Given the description of an element on the screen output the (x, y) to click on. 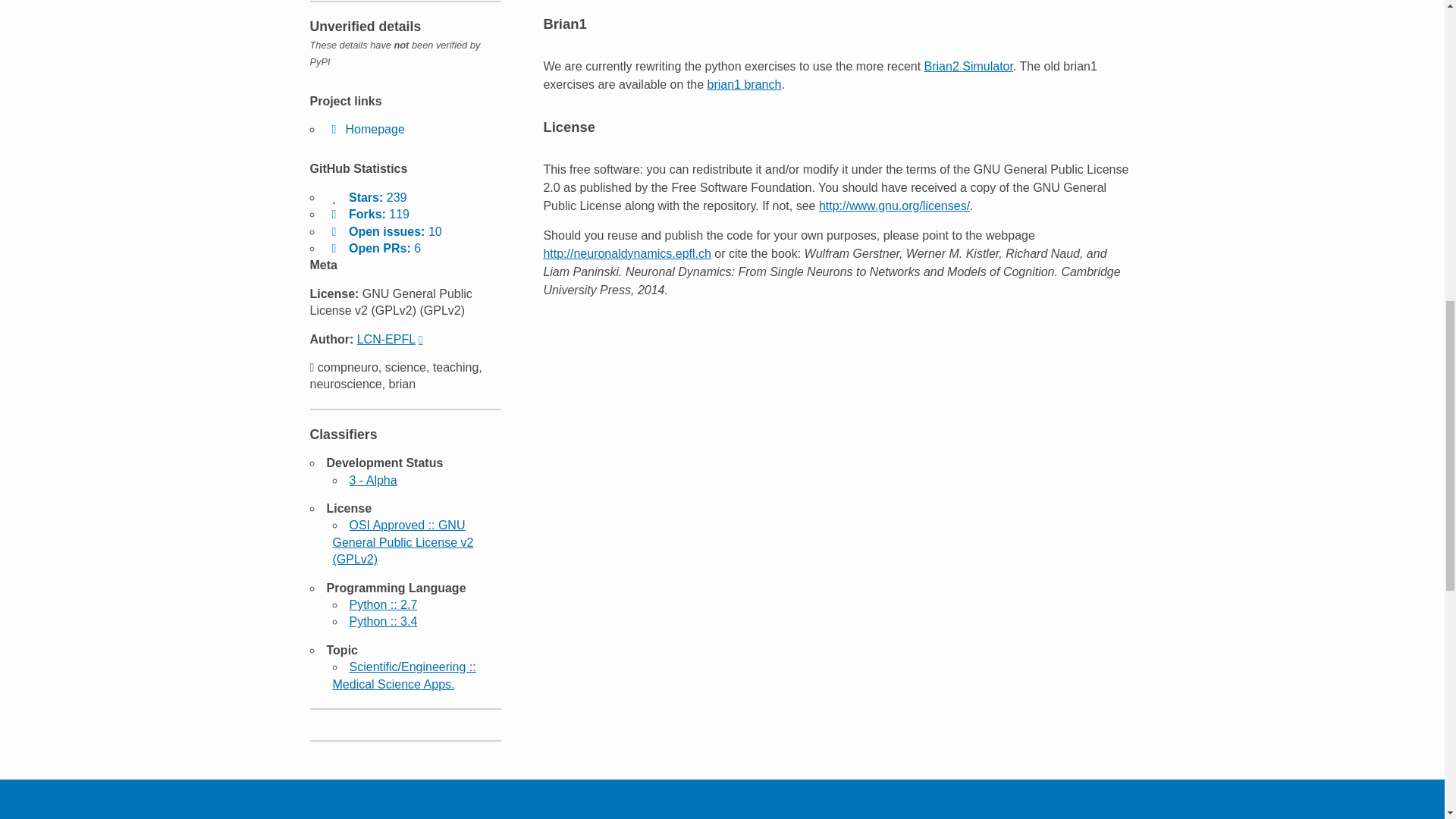
Open PRs: 6 (373, 247)
Forks: 119 (367, 214)
LCN-EPFL (389, 338)
3 - Alpha (372, 480)
Stars: 239 (366, 196)
Homepage (365, 128)
Python :: 3.4 (382, 621)
Open issues: 10 (383, 231)
Python :: 2.7 (382, 604)
